Given the description of an element on the screen output the (x, y) to click on. 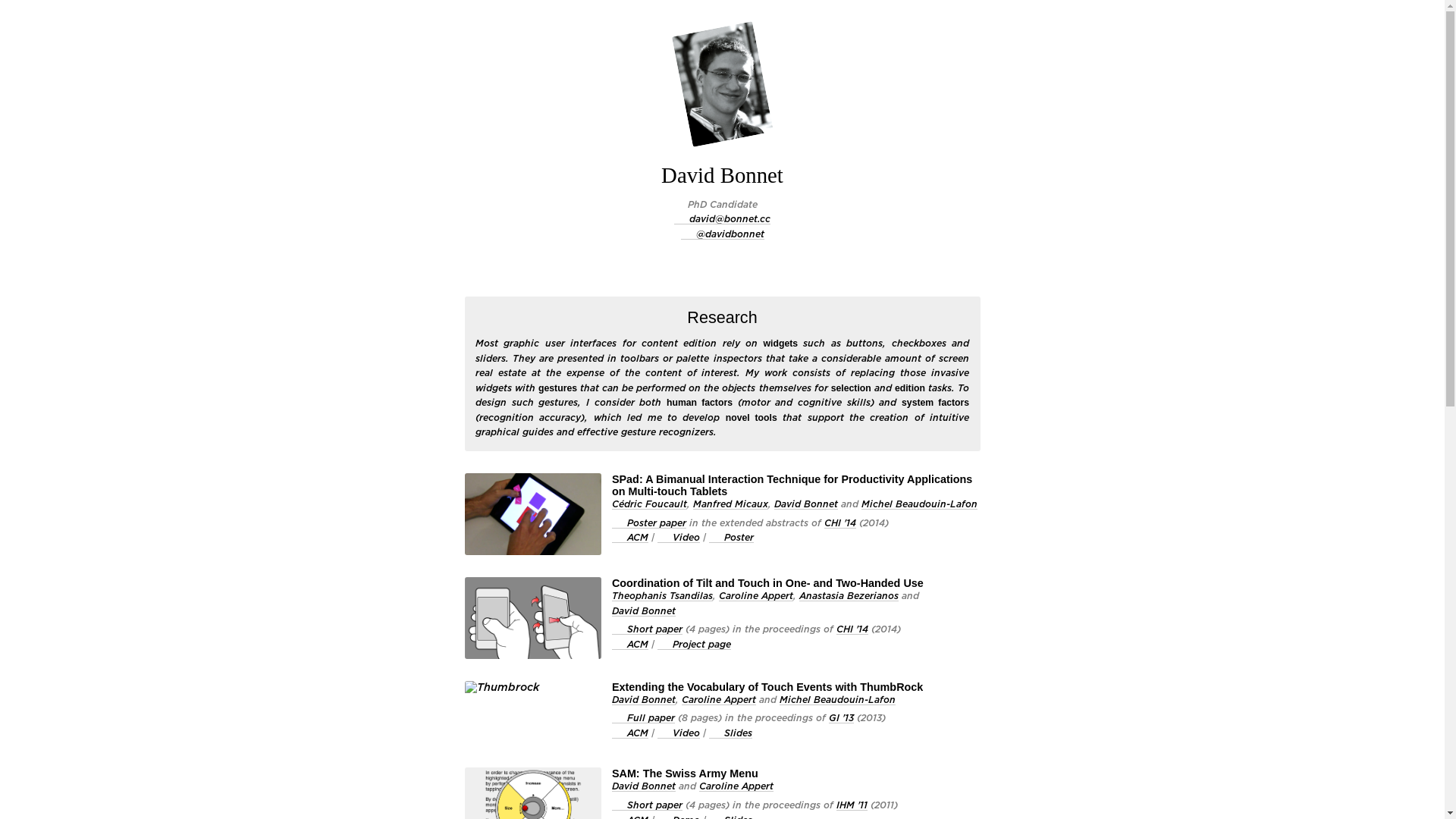
@davidbonnet Element type: text (722, 233)
CHI '14 Element type: text (840, 523)
Manfred Micaux Element type: text (730, 504)
Short paper Element type: text (646, 804)
Video Element type: text (678, 536)
Short paper Element type: text (646, 628)
Poster Element type: text (731, 536)
david@bonnet.cc Element type: text (722, 218)
Full paper Element type: text (642, 717)
Anastasia Bezerianos Element type: text (848, 596)
Poster paper Element type: text (648, 522)
CHI '14 Element type: text (852, 629)
Caroline Appert Element type: text (718, 700)
Michel Beaudouin-Lafon Element type: text (919, 504)
David Bonnet Element type: text (643, 700)
Project page Element type: text (694, 643)
IHM '11 Element type: text (851, 805)
Theophanis Tsandilas Element type: text (661, 596)
David Bonnet Element type: text (805, 504)
Caroline Appert Element type: text (755, 596)
ACM Element type: text (629, 536)
Video Element type: text (678, 732)
David Bonnet Element type: text (643, 611)
Slides Element type: text (730, 732)
ACM Element type: text (629, 732)
GI '13 Element type: text (840, 718)
David Bonnet Element type: text (643, 786)
ACM Element type: text (629, 643)
Caroline Appert Element type: text (736, 786)
Michel Beaudouin-Lafon Element type: text (837, 700)
